Given the description of an element on the screen output the (x, y) to click on. 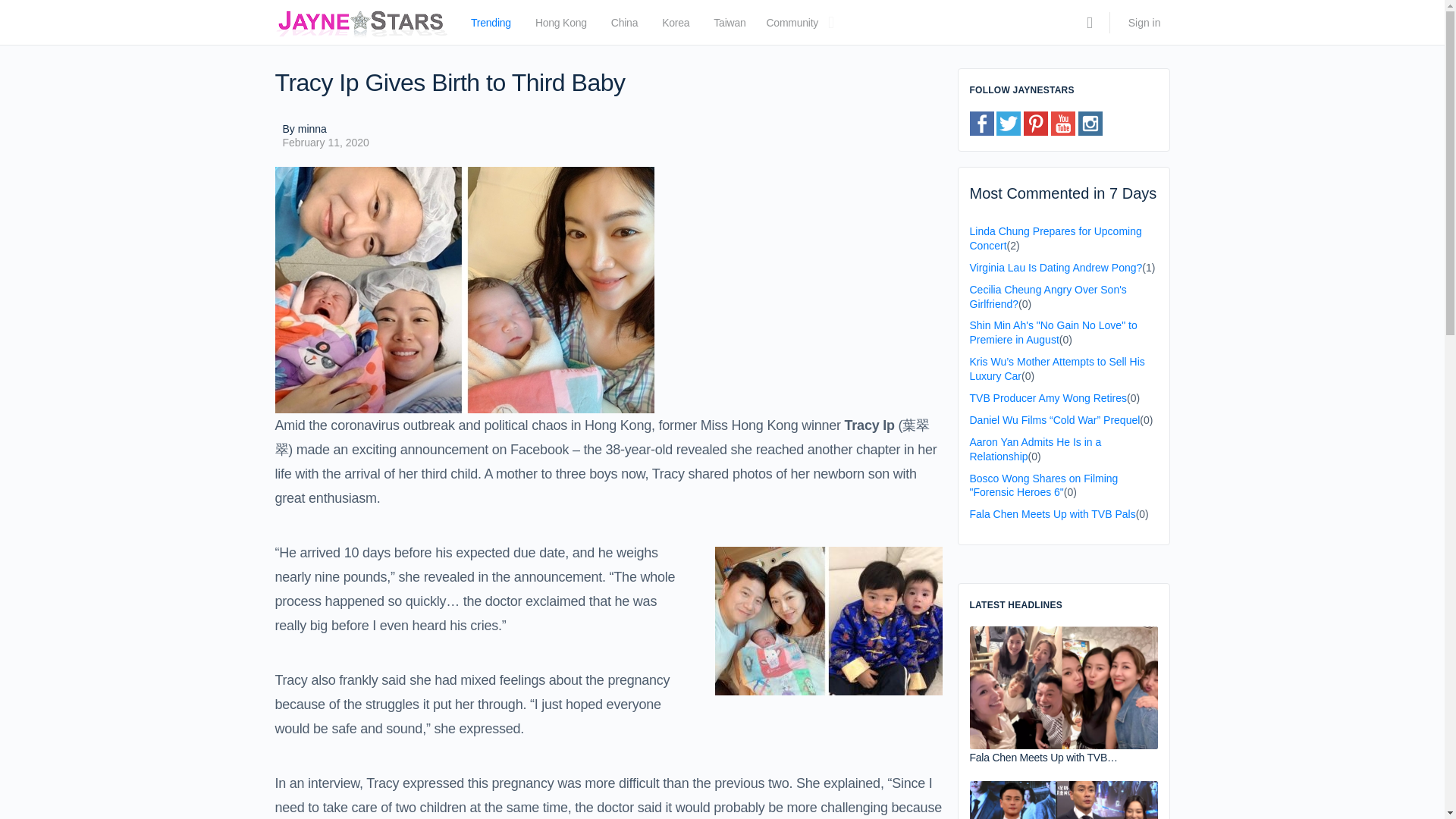
February 11, 2020 (325, 142)
Community (791, 25)
By minna (325, 128)
Sign in (1144, 22)
Twitter (1007, 122)
Facebook (980, 122)
Hong Kong (560, 25)
Pinterest (1035, 122)
